Given the description of an element on the screen output the (x, y) to click on. 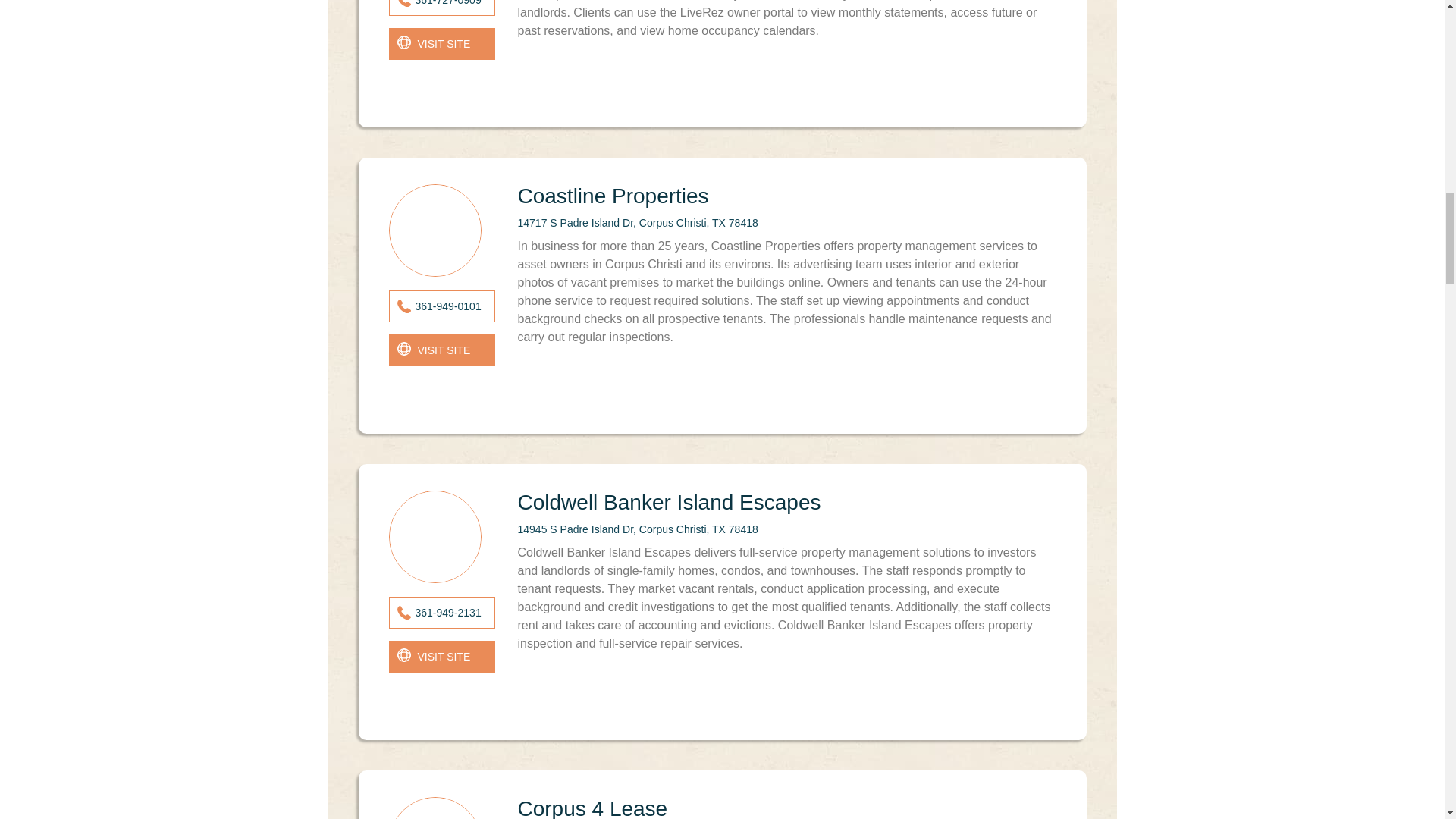
opens in a new window (441, 350)
opens in a new window (441, 656)
opens in a new window (441, 43)
